Given the description of an element on the screen output the (x, y) to click on. 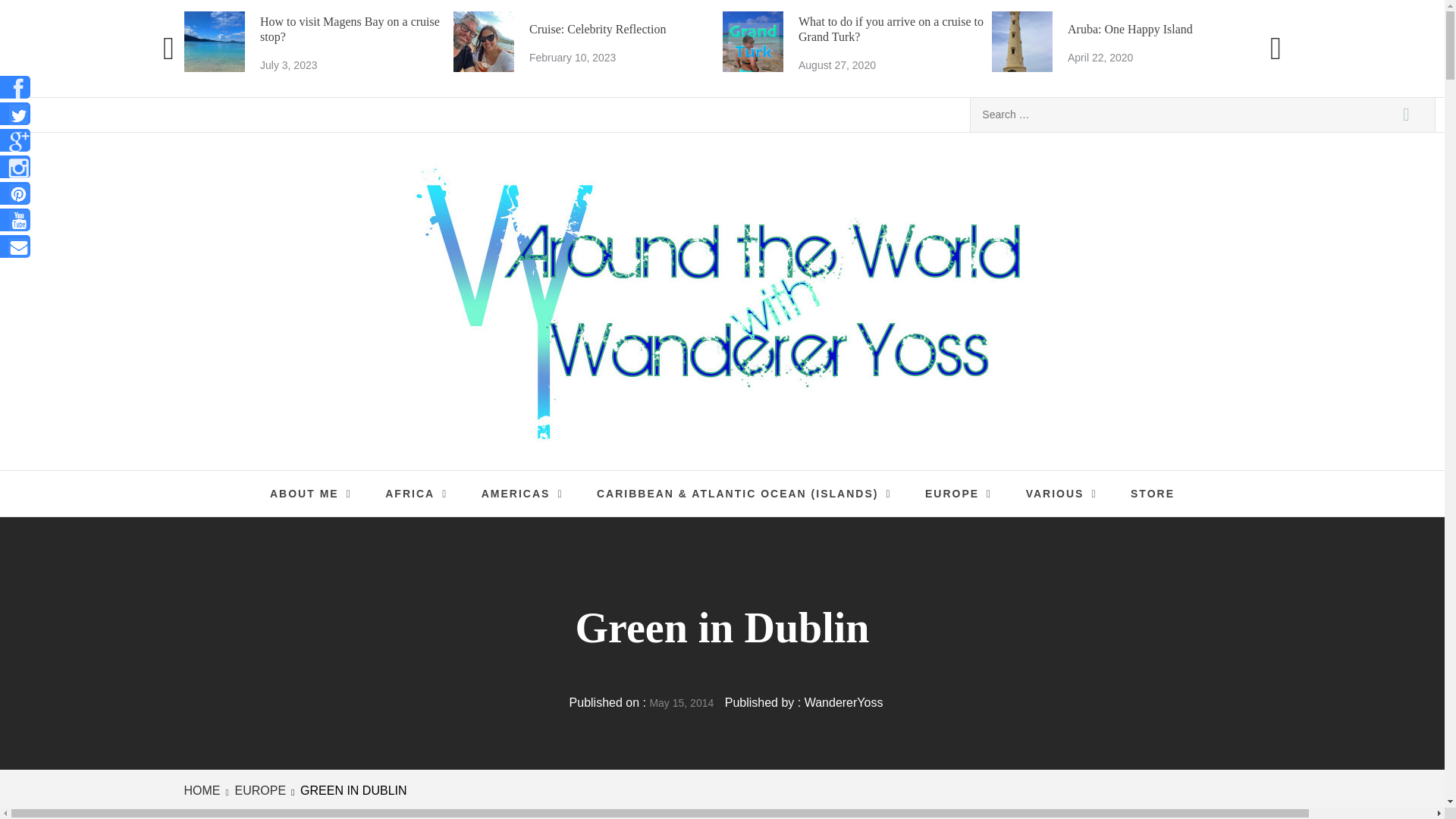
August 27, 2020 (836, 64)
What to do if you arrive on a cruise to Grand Turk? (1125, 44)
How to visit Magens Bay on a cruise stop? (889, 28)
July 3, 2023 (349, 28)
February 10, 2023 (317, 44)
Aruba: One Happy Island (288, 64)
Search (572, 57)
Search (1129, 29)
April 22, 2020 (1405, 114)
Cruise: Celebrity Reflection (1405, 114)
